Given the description of an element on the screen output the (x, y) to click on. 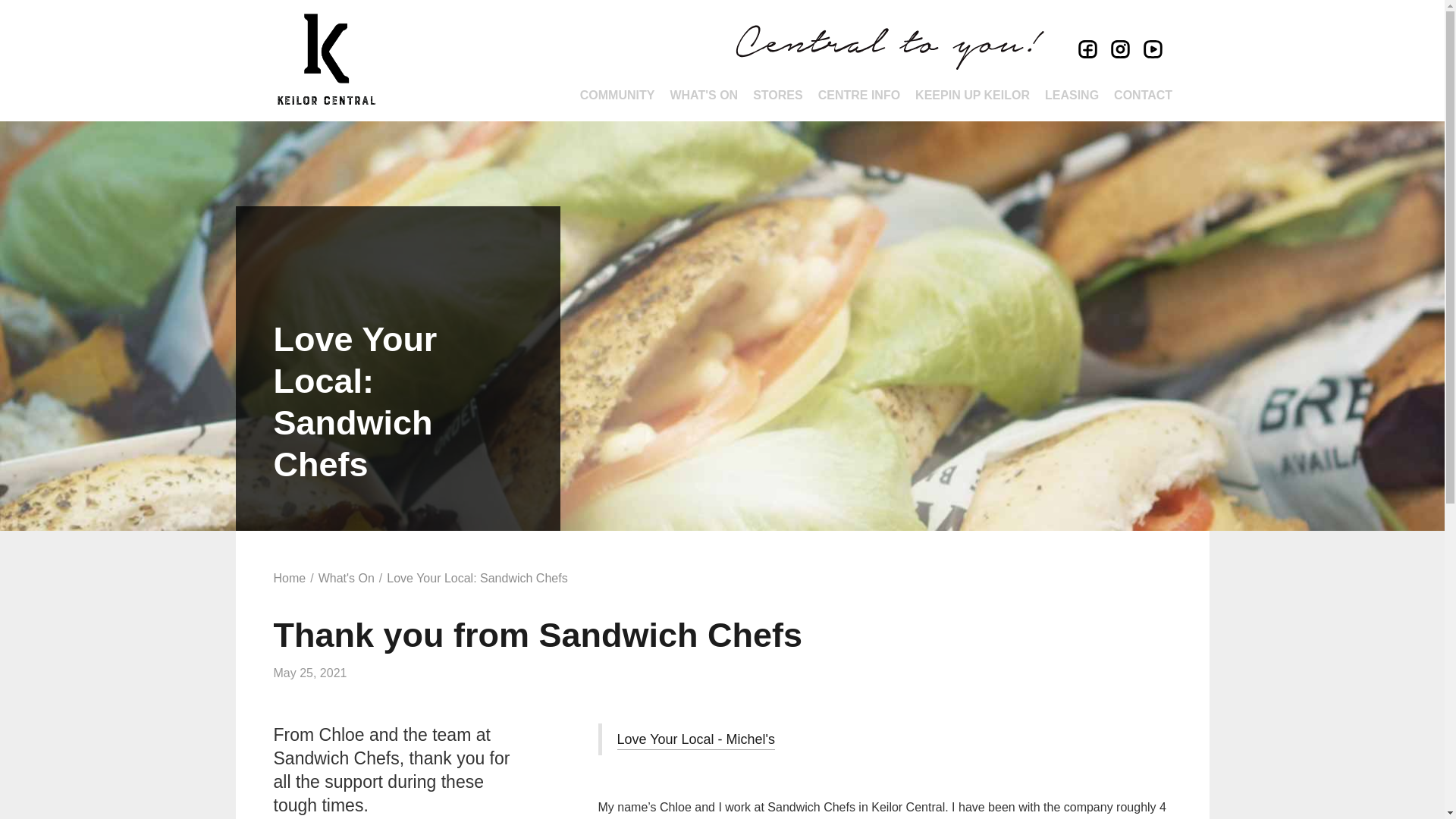
Home Element type: text (289, 579)
What's On Element type: text (346, 579)
Check out our instagram Element type: hover (1117, 50)
WHAT'S ON Element type: text (703, 95)
Follow us on Facebook Element type: hover (1084, 50)
CENTRE INFO Element type: text (858, 95)
STORES Element type: text (777, 95)
COMMUNITY Element type: text (617, 95)
Subscribe to our YouTube Element type: hover (1149, 50)
LEASING Element type: text (1071, 95)
Love Your Local: Sandwich Chefs Element type: text (476, 579)
KEEPIN UP KEILOR Element type: text (972, 95)
CONTACT Element type: text (1142, 95)
Love Your Local - Michel's Element type: text (696, 740)
